Given the description of an element on the screen output the (x, y) to click on. 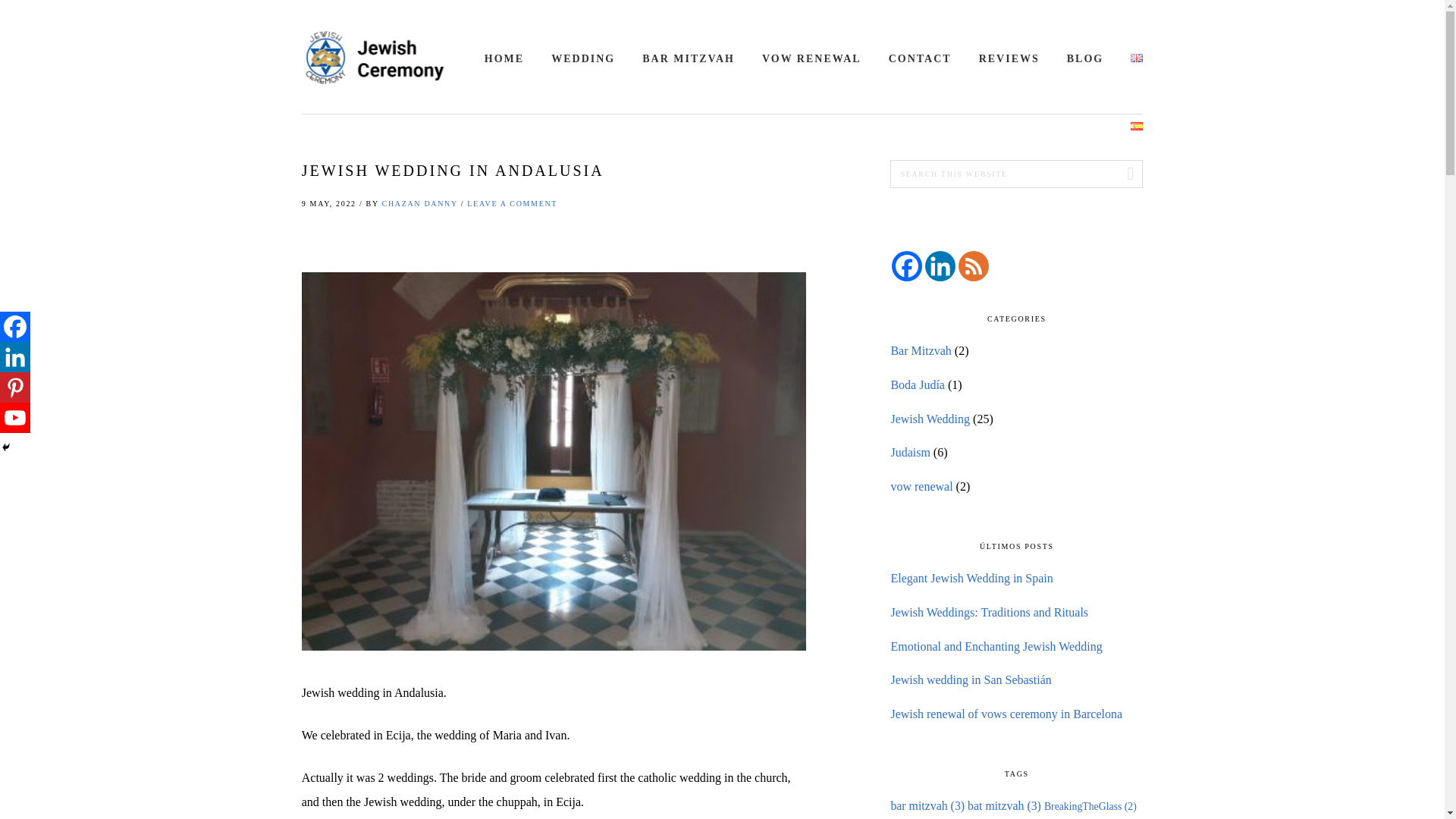
Pinterest (15, 387)
Facebook (906, 265)
VOW RENEWAL (811, 57)
CHAZAN DANNY (419, 203)
Facebook (15, 327)
JEWISH CEREMONY (376, 58)
Linkedin (15, 357)
Youtube (15, 417)
Hide (5, 447)
